Given the description of an element on the screen output the (x, y) to click on. 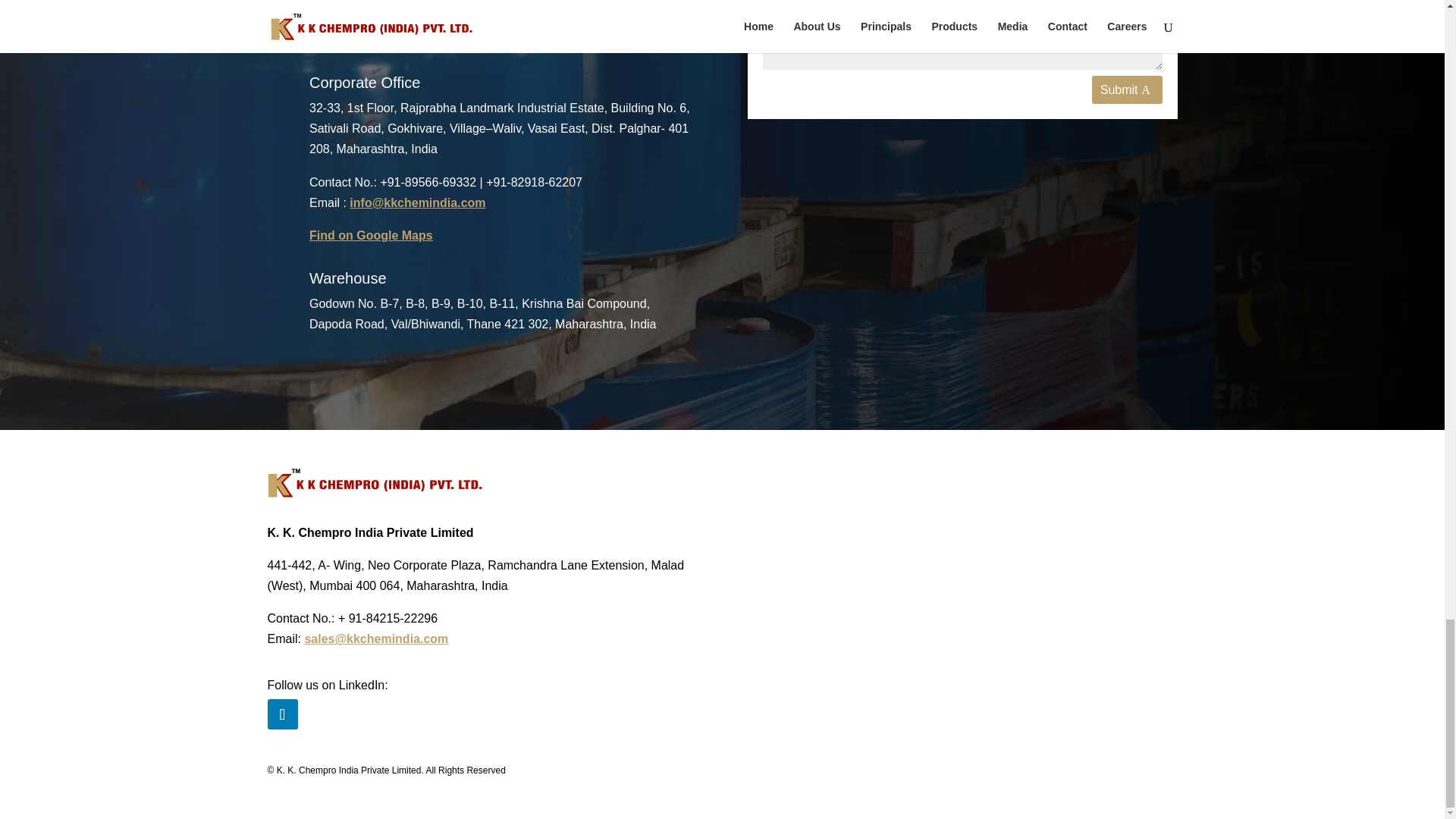
KKCIL-Full-Logo (373, 482)
Follow on LinkedIn (281, 714)
